Given the description of an element on the screen output the (x, y) to click on. 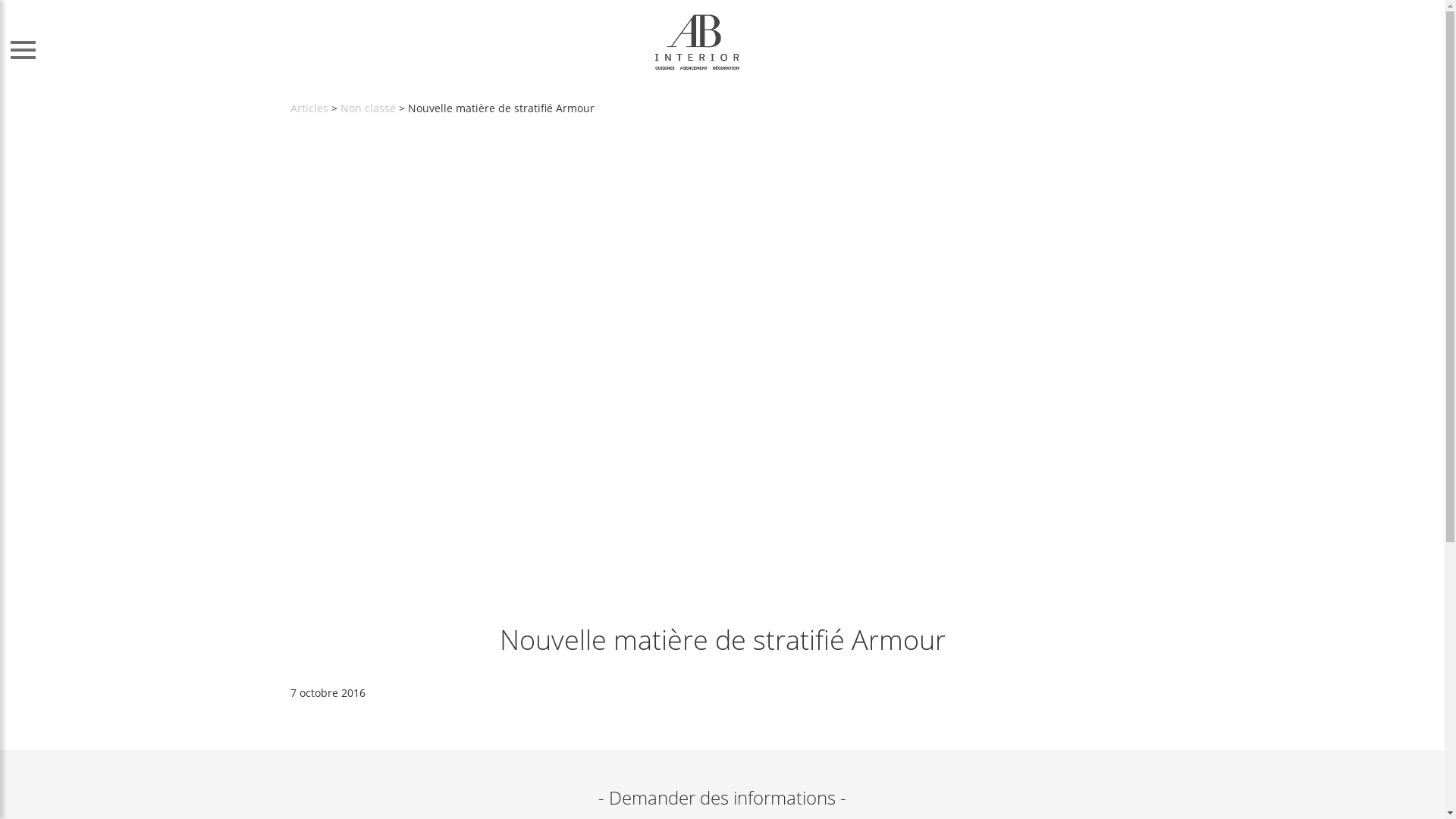
MENU Element type: text (27, 44)
Articles Element type: text (308, 107)
